Given the description of an element on the screen output the (x, y) to click on. 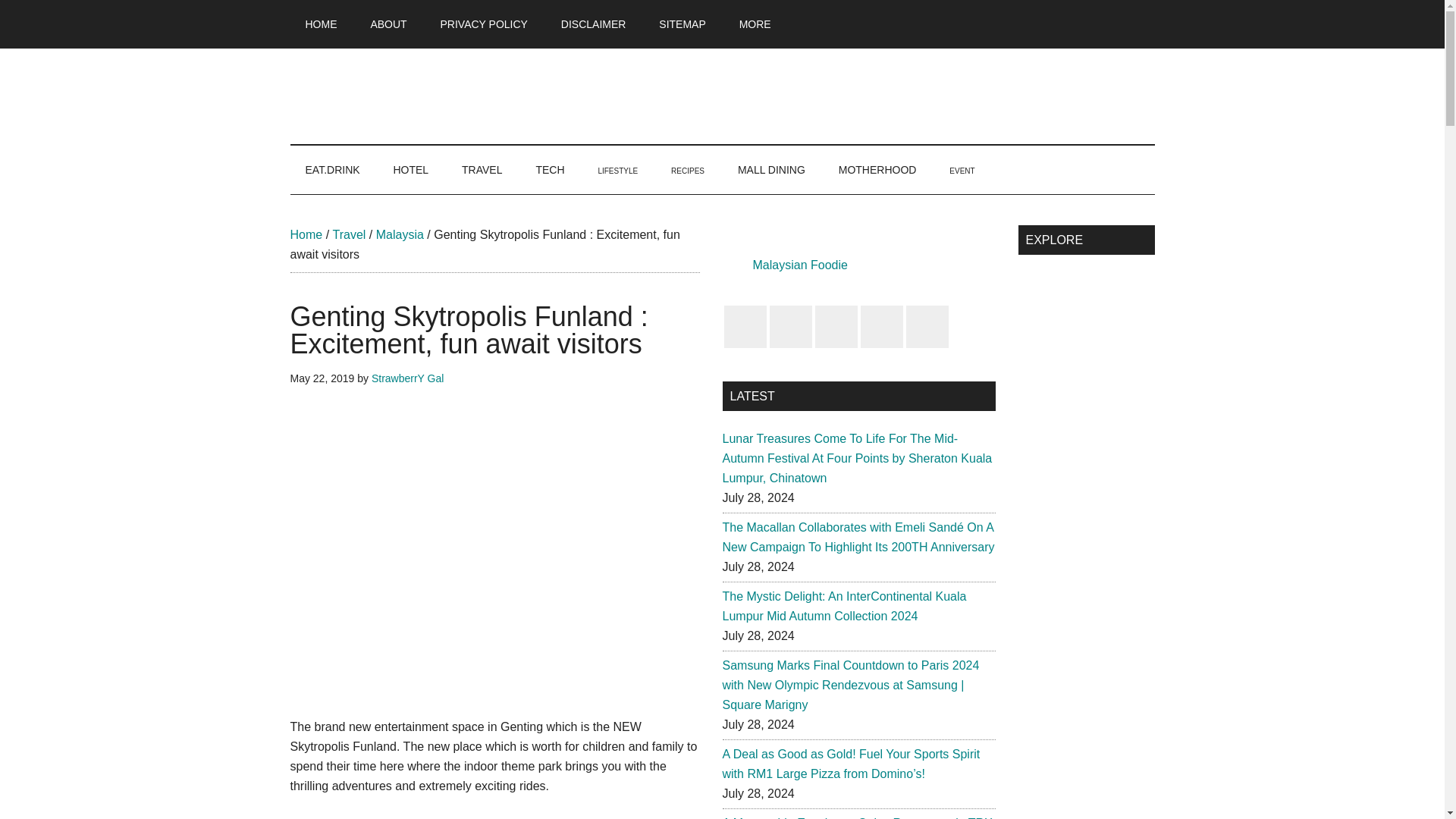
EAT.DRINK (331, 169)
TRAVEL (481, 169)
HOTEL (410, 169)
MORE (754, 24)
DISCLAIMER (594, 24)
PRIVACY POLICY (484, 24)
SITEMAP (681, 24)
HOME (320, 24)
ABOUT (388, 24)
